Given the description of an element on the screen output the (x, y) to click on. 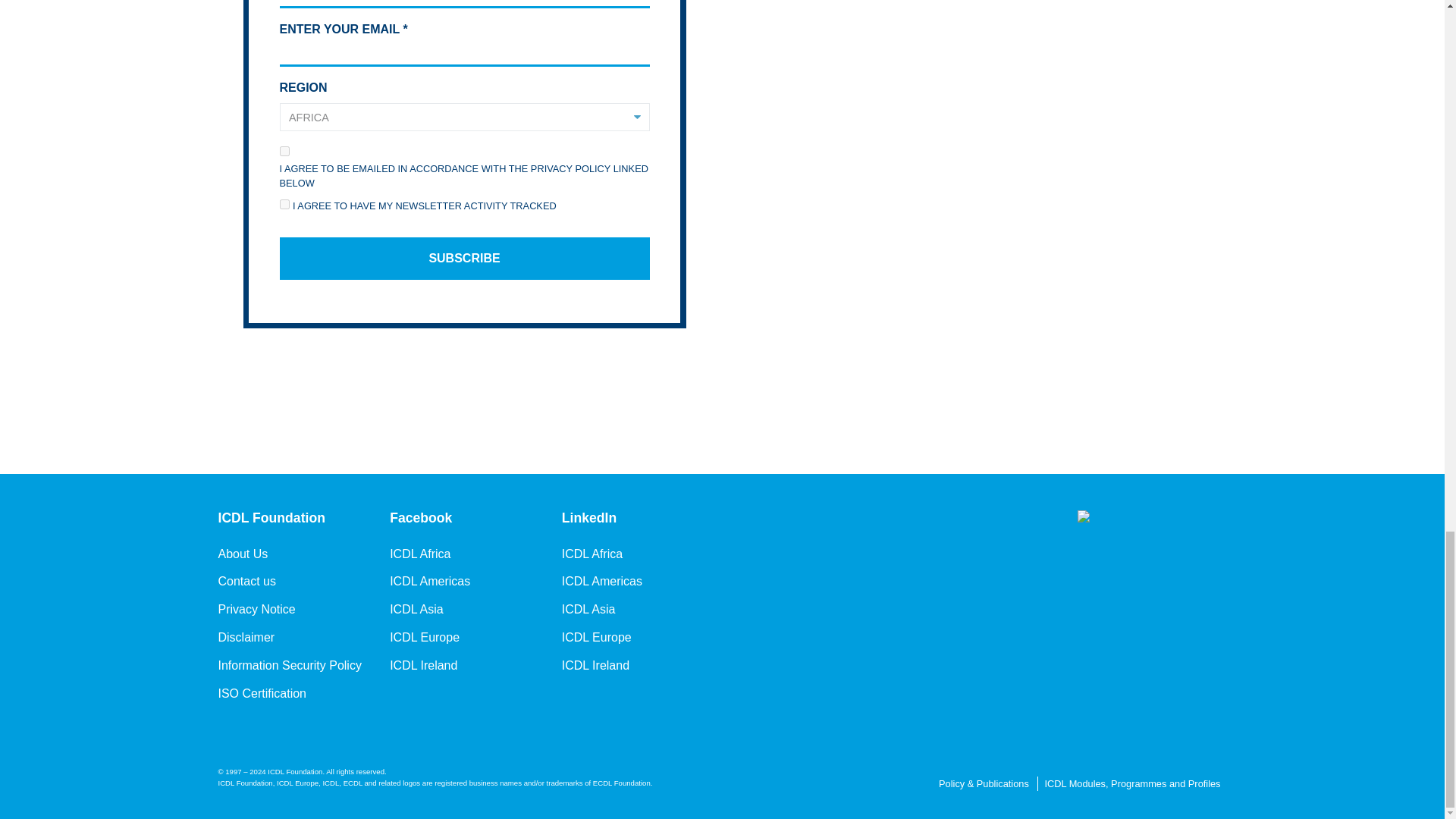
ICDL Ireland (423, 665)
ICDL Africa (419, 554)
ICDL Europe (425, 637)
Privacy Notice (256, 609)
ICDL Europe (596, 637)
ISO Certification (261, 693)
ICDL Africa (592, 554)
Contact us (247, 581)
About Us (242, 554)
on (283, 151)
